Given the description of an element on the screen output the (x, y) to click on. 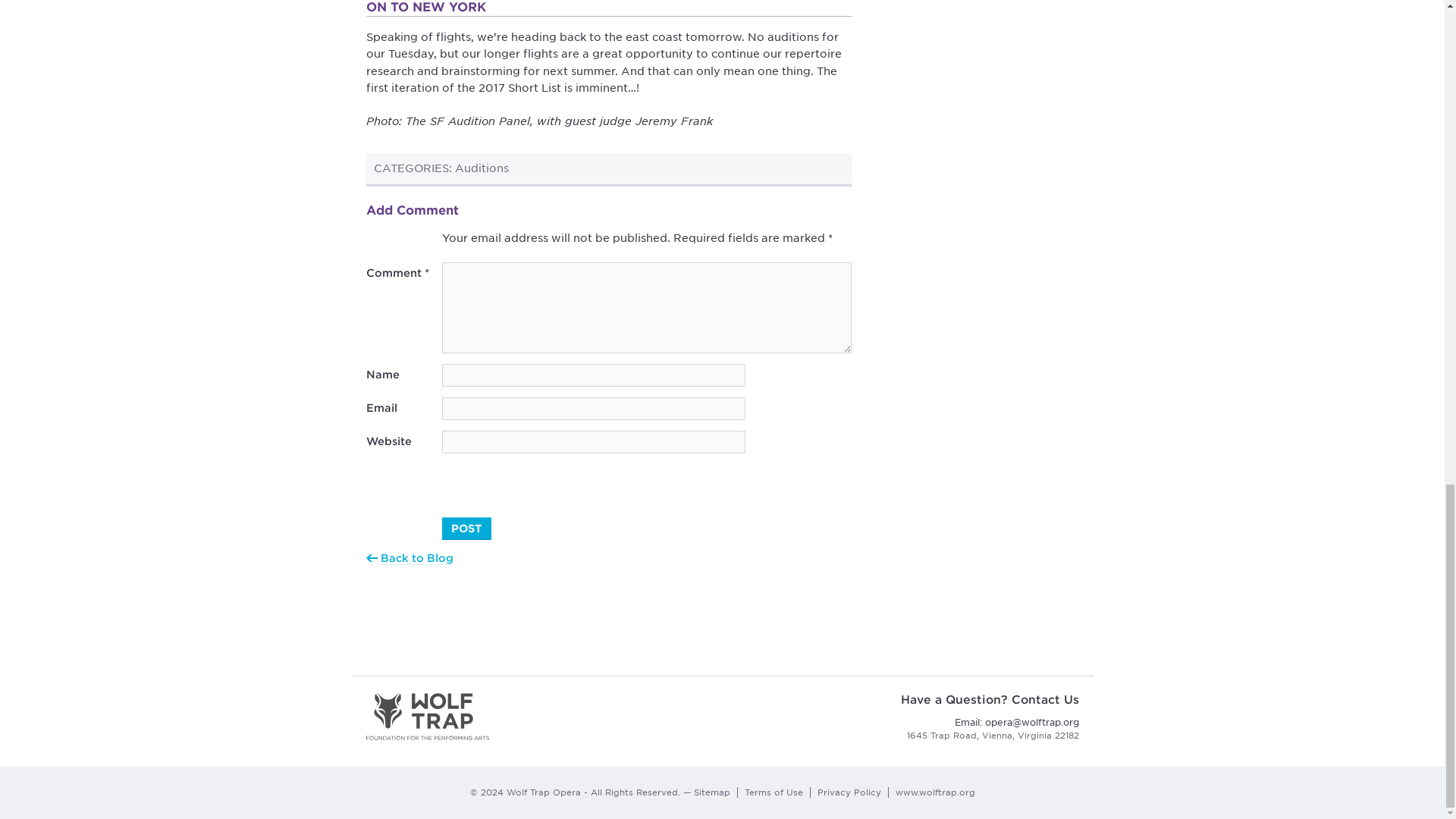
Auditions (481, 168)
Wolf Trap (427, 715)
www.wolftrap.org (934, 792)
Terms of Use (773, 792)
Post (465, 527)
Privacy Policy (848, 792)
Sitemap (711, 792)
Back to Blog (416, 558)
Post (465, 527)
